Given the description of an element on the screen output the (x, y) to click on. 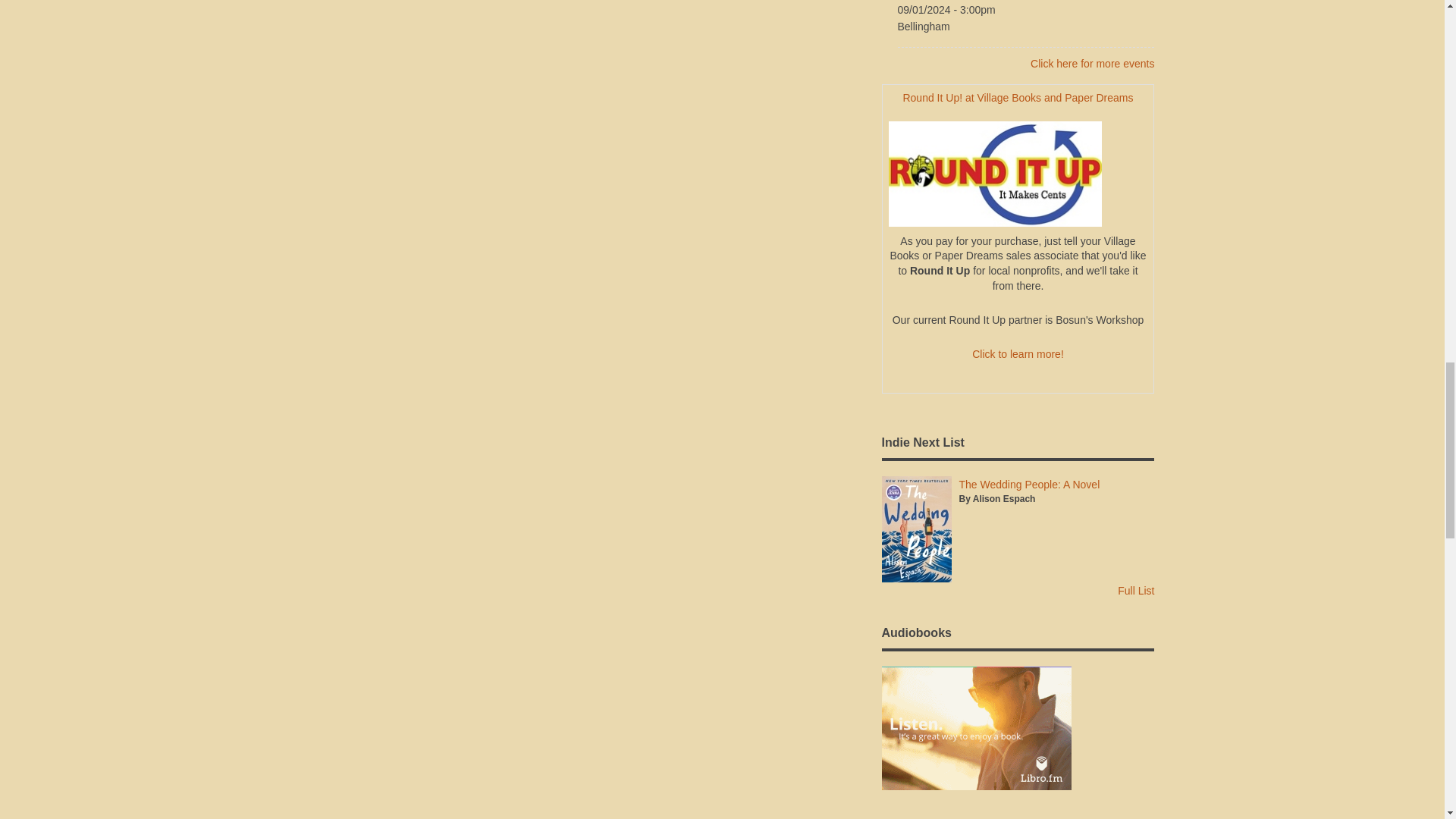
Click to learn more! (1018, 354)
The Wedding People: A Novel - by Alison Espach (1028, 484)
Click here for more events (1092, 63)
Round It Up! at Village Books and Paper Dreams (1017, 97)
